Given the description of an element on the screen output the (x, y) to click on. 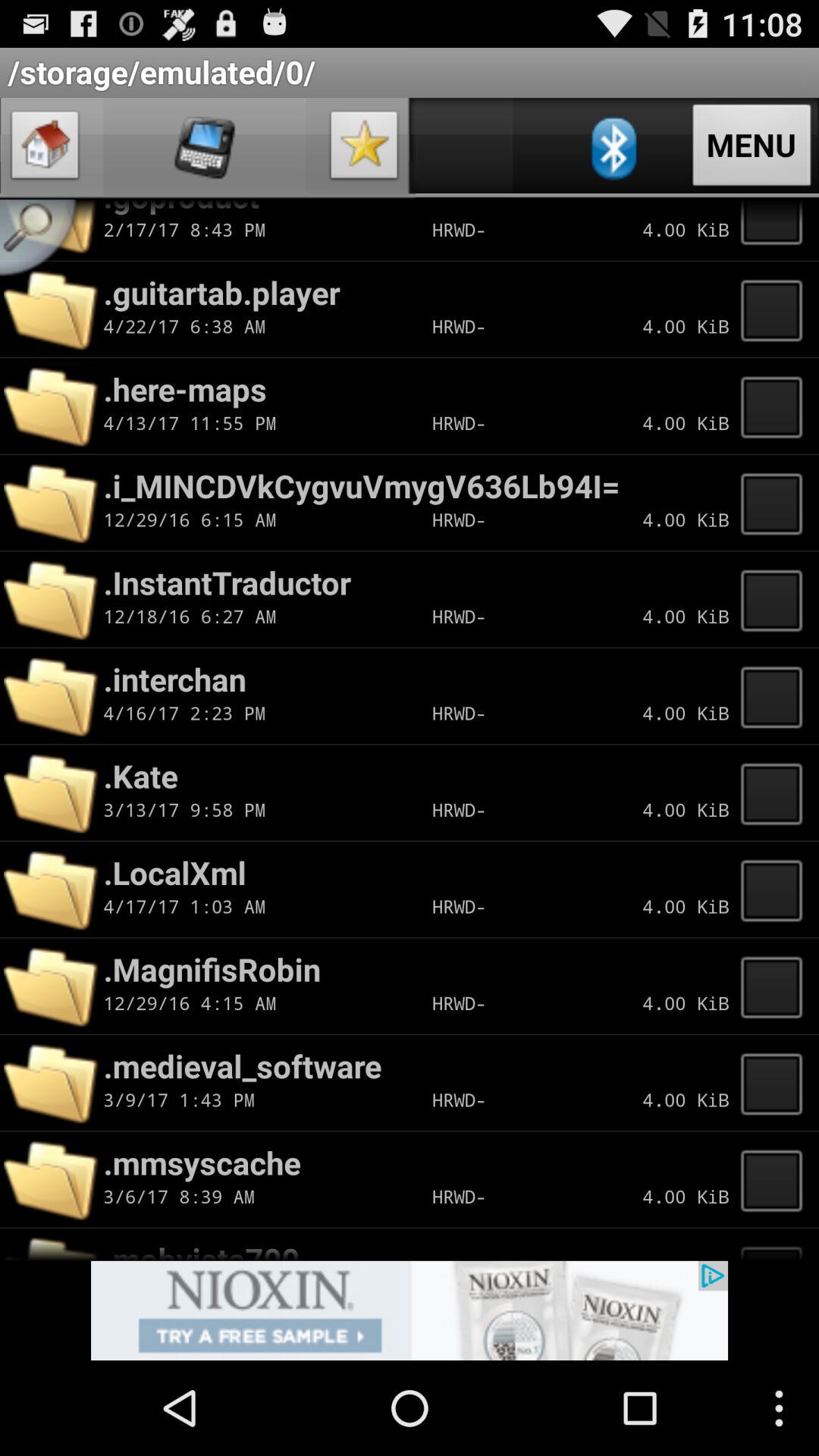
select folder (776, 1179)
